Given the description of an element on the screen output the (x, y) to click on. 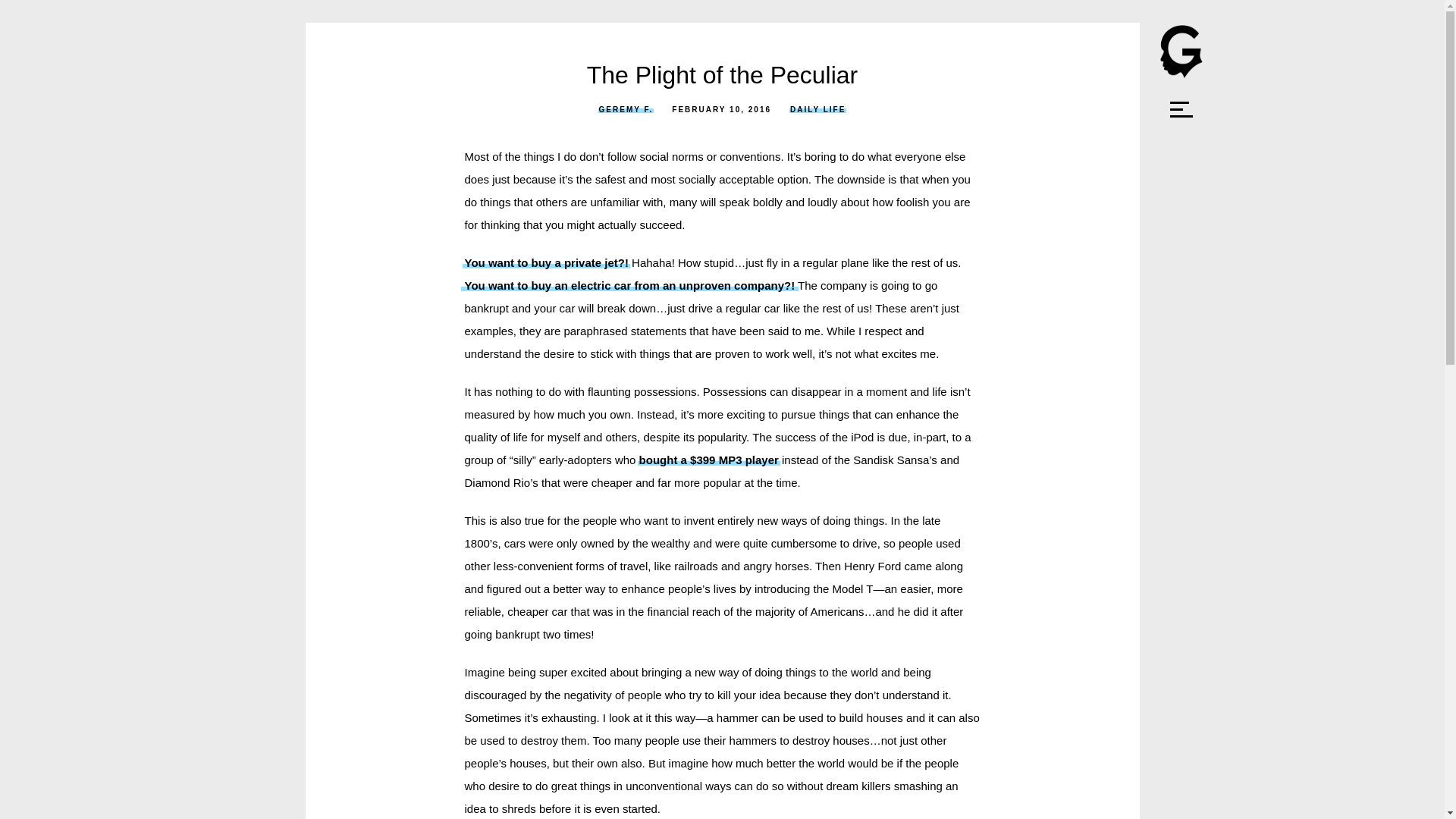
GEREMY F. (625, 109)
DAILY LIFE (817, 109)
You want to buy an electric car from an unproven company?! (629, 285)
You want to buy a private jet?! (545, 262)
Posts by Geremy F. (625, 109)
